Given the description of an element on the screen output the (x, y) to click on. 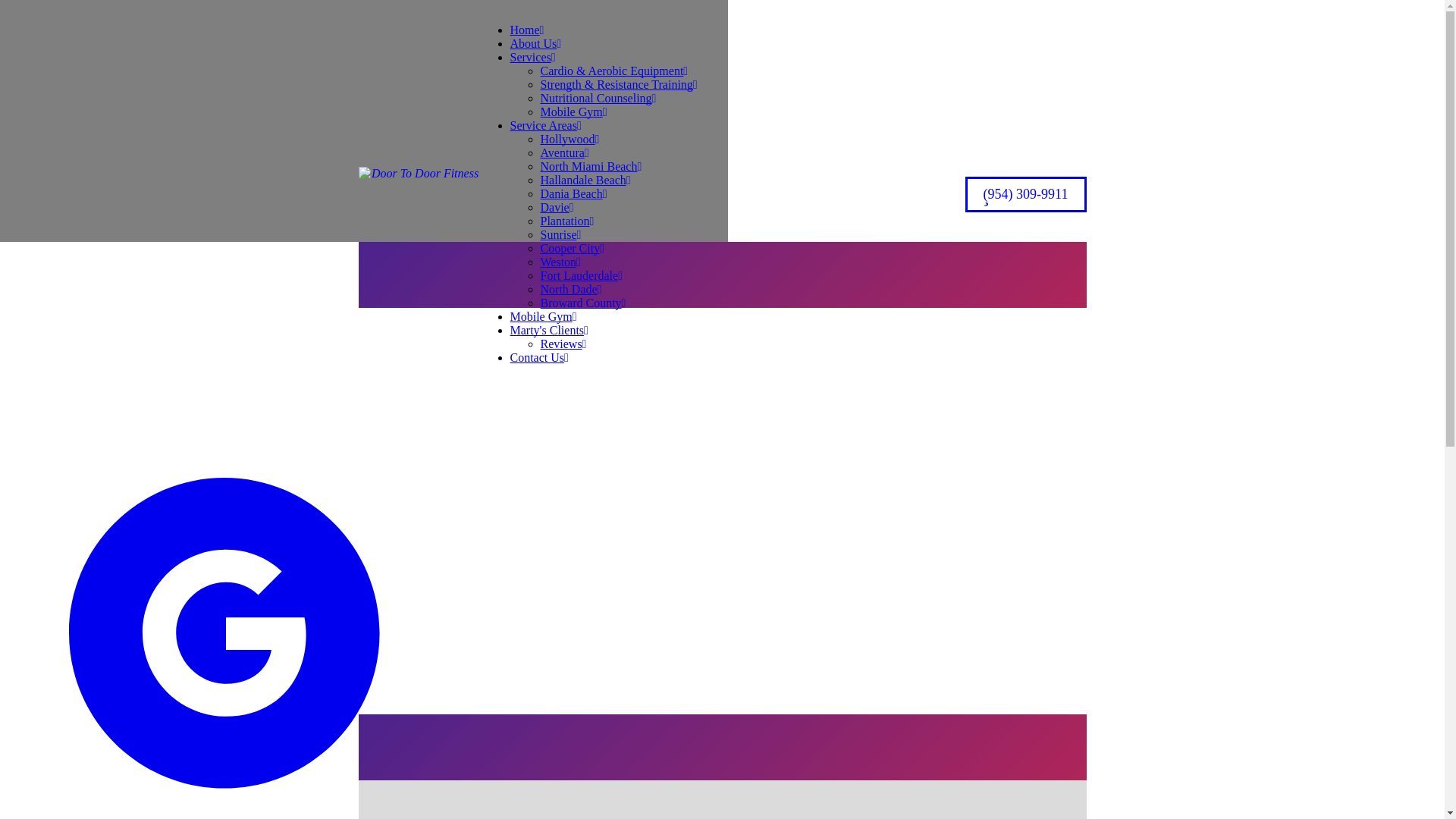
North Dade (570, 288)
About Us (534, 42)
Reviews (563, 343)
Hallandale Beach (585, 179)
Weston (559, 261)
Contact Us (538, 357)
Service Areas (544, 124)
Door To Door Fitness (418, 194)
Aventura (564, 152)
Davie (556, 206)
